Given the description of an element on the screen output the (x, y) to click on. 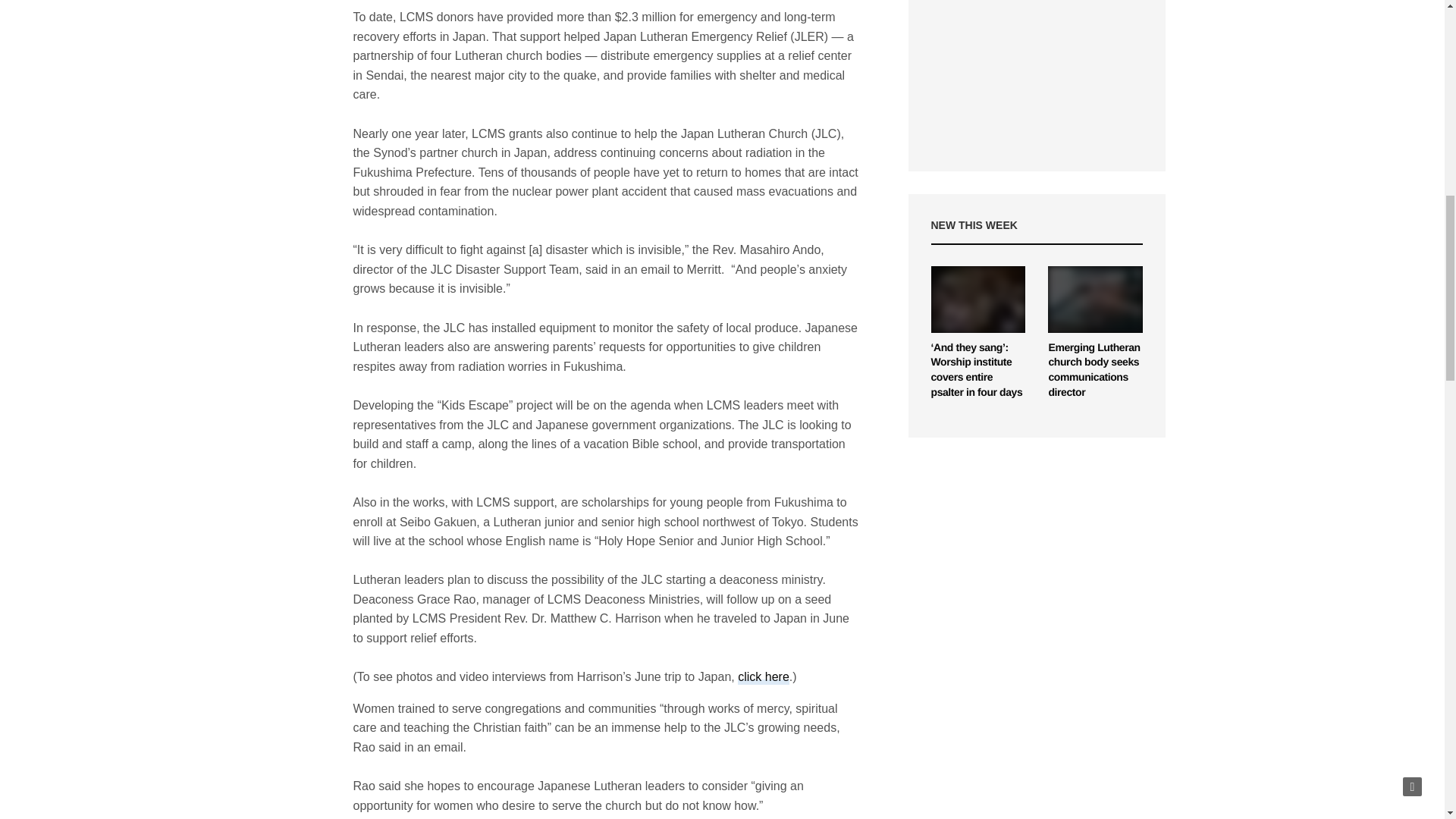
Emerging Lutheran church body seeks communications director (1095, 299)
Emerging Lutheran church body seeks communications director (1094, 369)
